Given the description of an element on the screen output the (x, y) to click on. 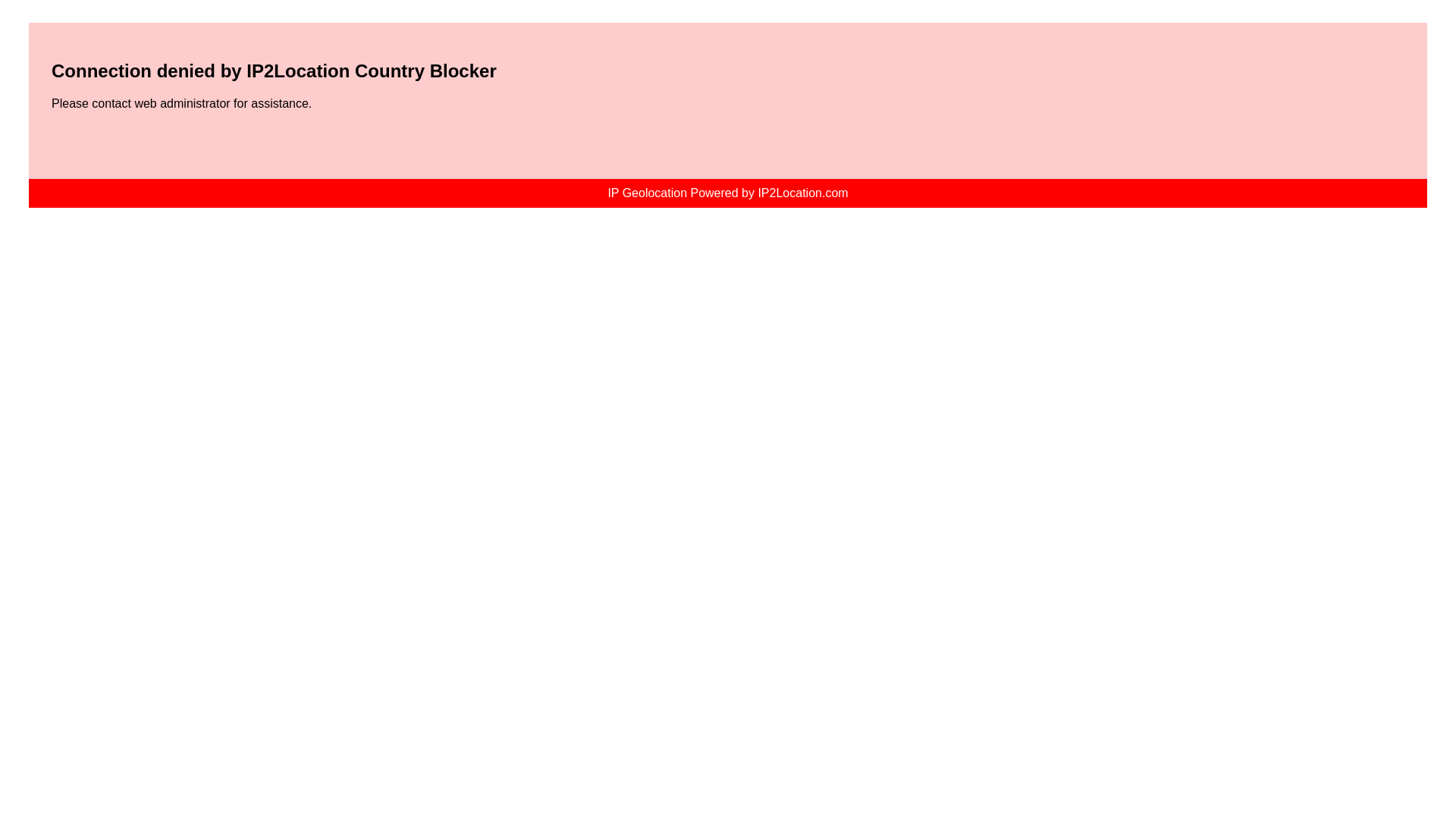
IP Geolocation Powered by IP2Location.com (727, 192)
